Given the description of an element on the screen output the (x, y) to click on. 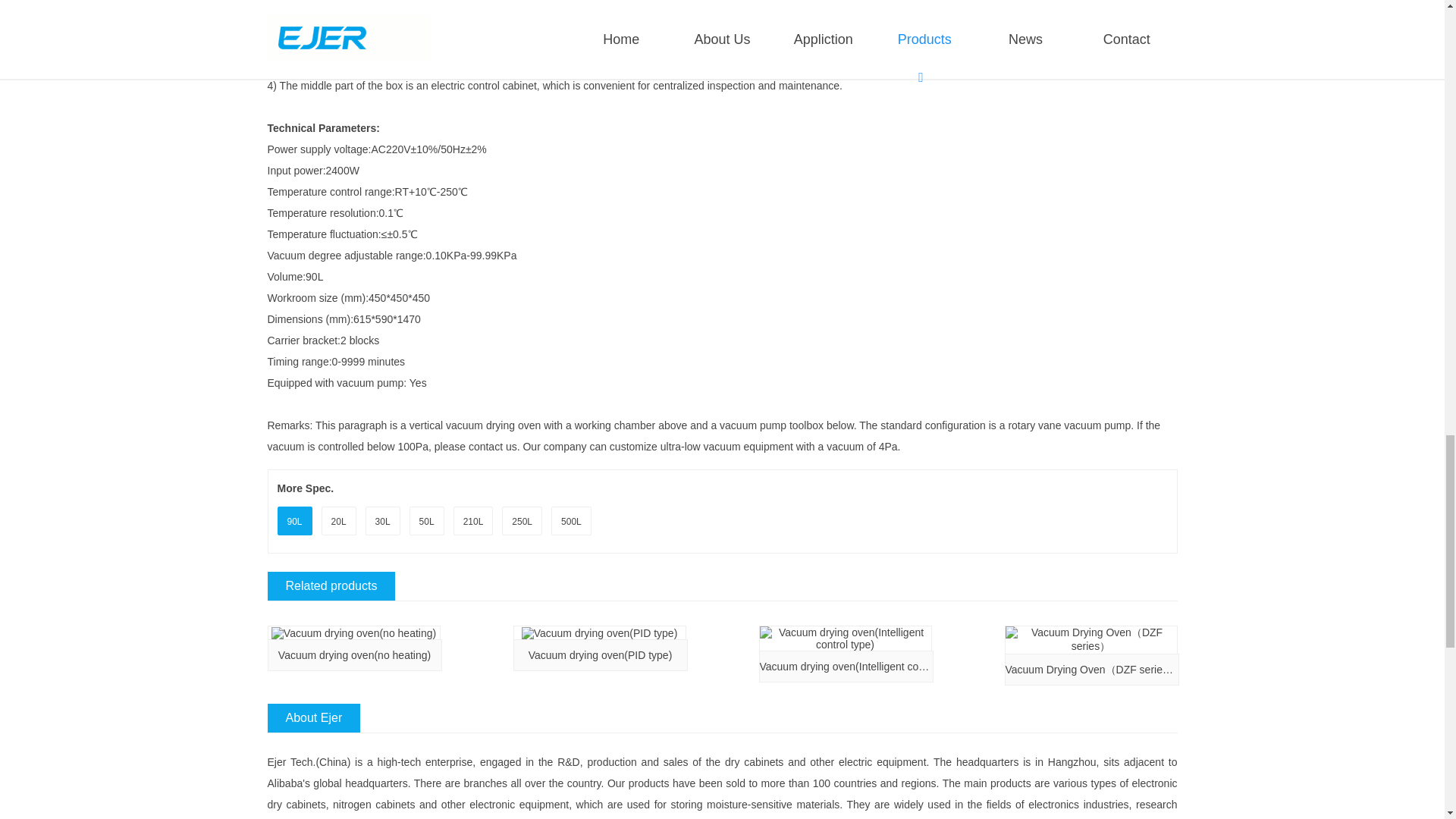
90L (293, 521)
50L (426, 521)
210L (473, 521)
30L (382, 521)
500L (570, 521)
250L (522, 521)
20L (338, 521)
